Given the description of an element on the screen output the (x, y) to click on. 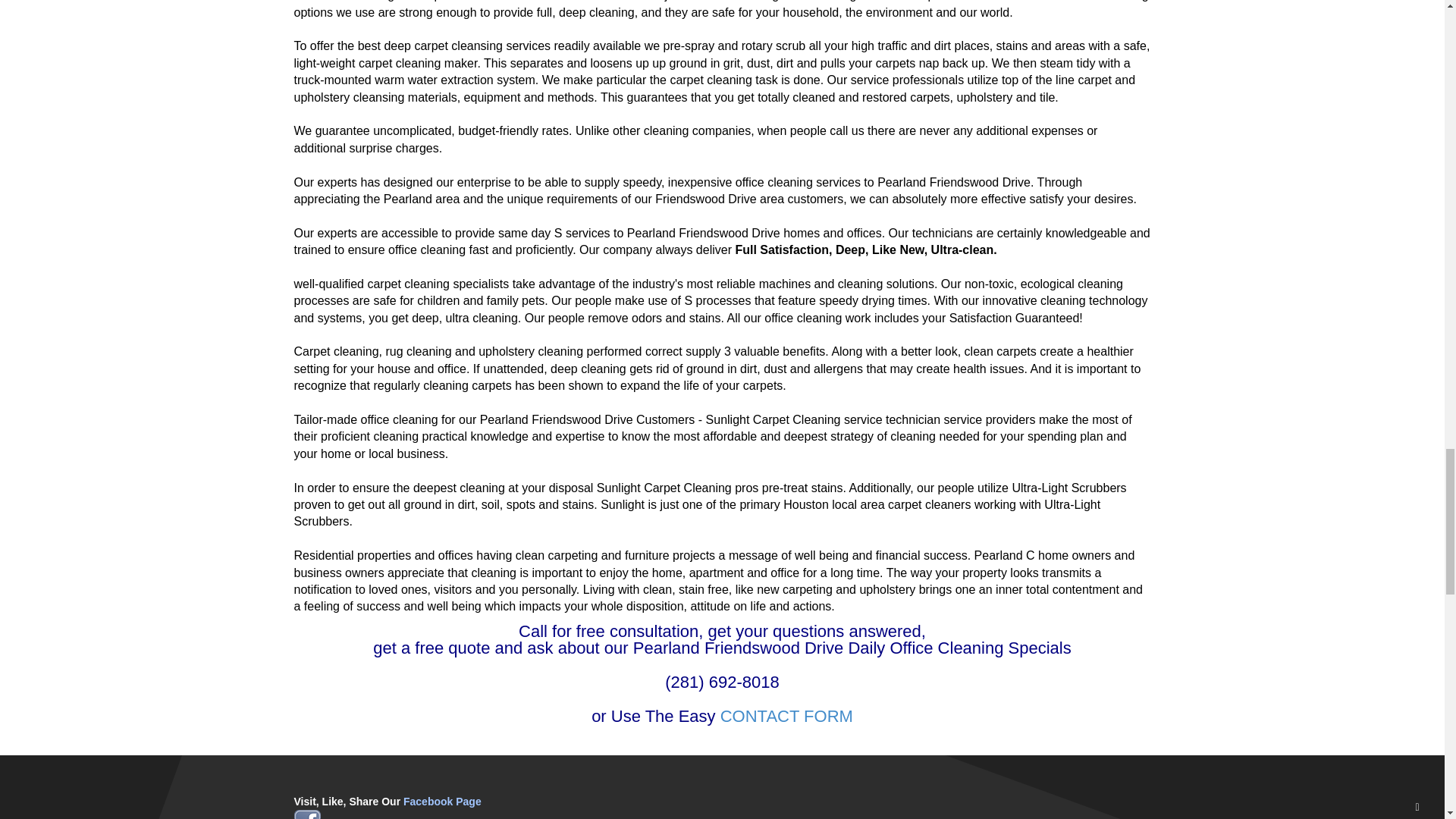
CONTACT FORM (786, 715)
Facebook Page (442, 801)
